Given the description of an element on the screen output the (x, y) to click on. 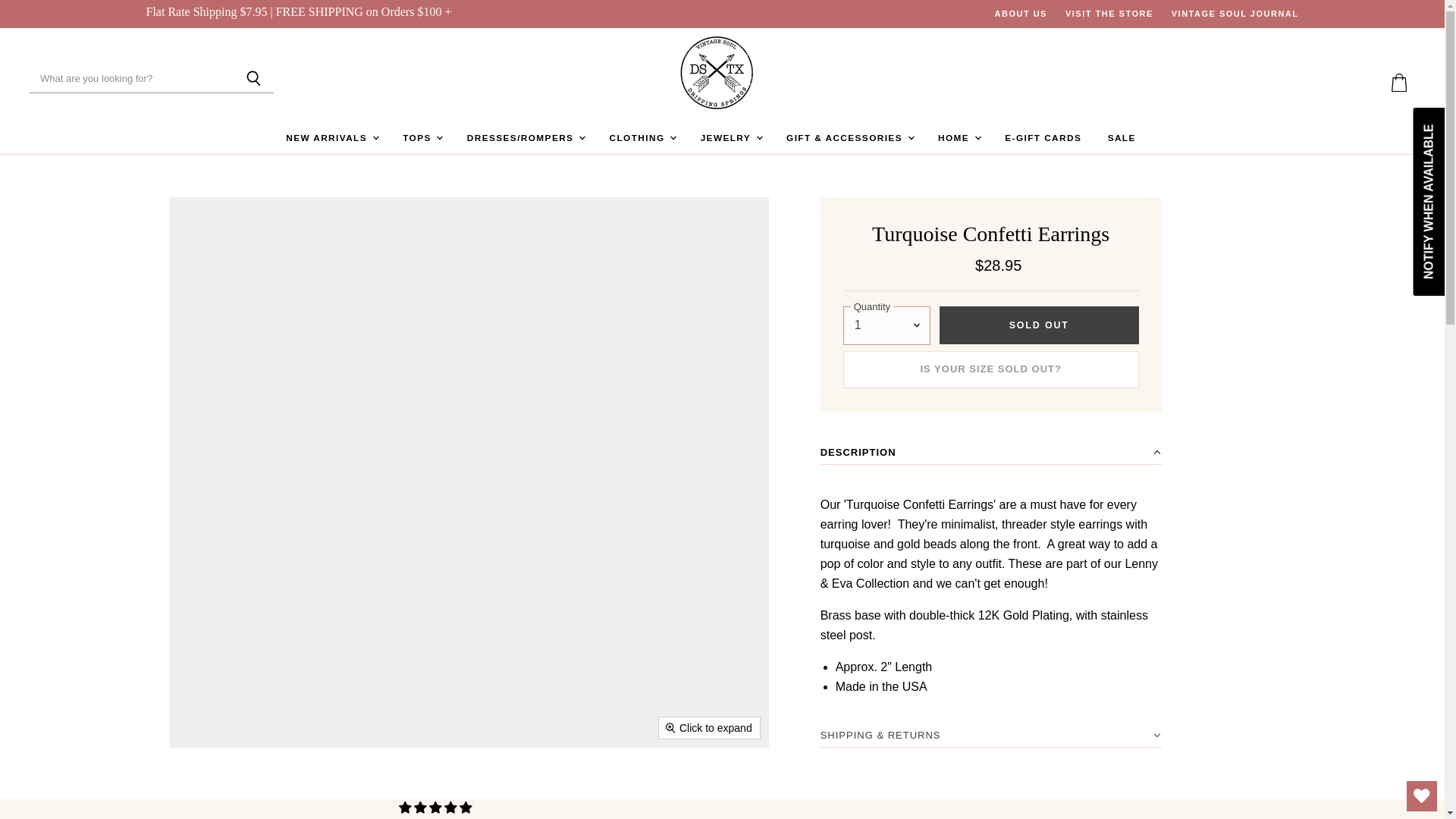
TOPS (421, 137)
NEW ARRIVALS (331, 137)
VINTAGE SOUL JOURNAL (1235, 13)
ABOUT US (1020, 13)
VISIT THE STORE (1109, 13)
CLOTHING (641, 137)
